Given the description of an element on the screen output the (x, y) to click on. 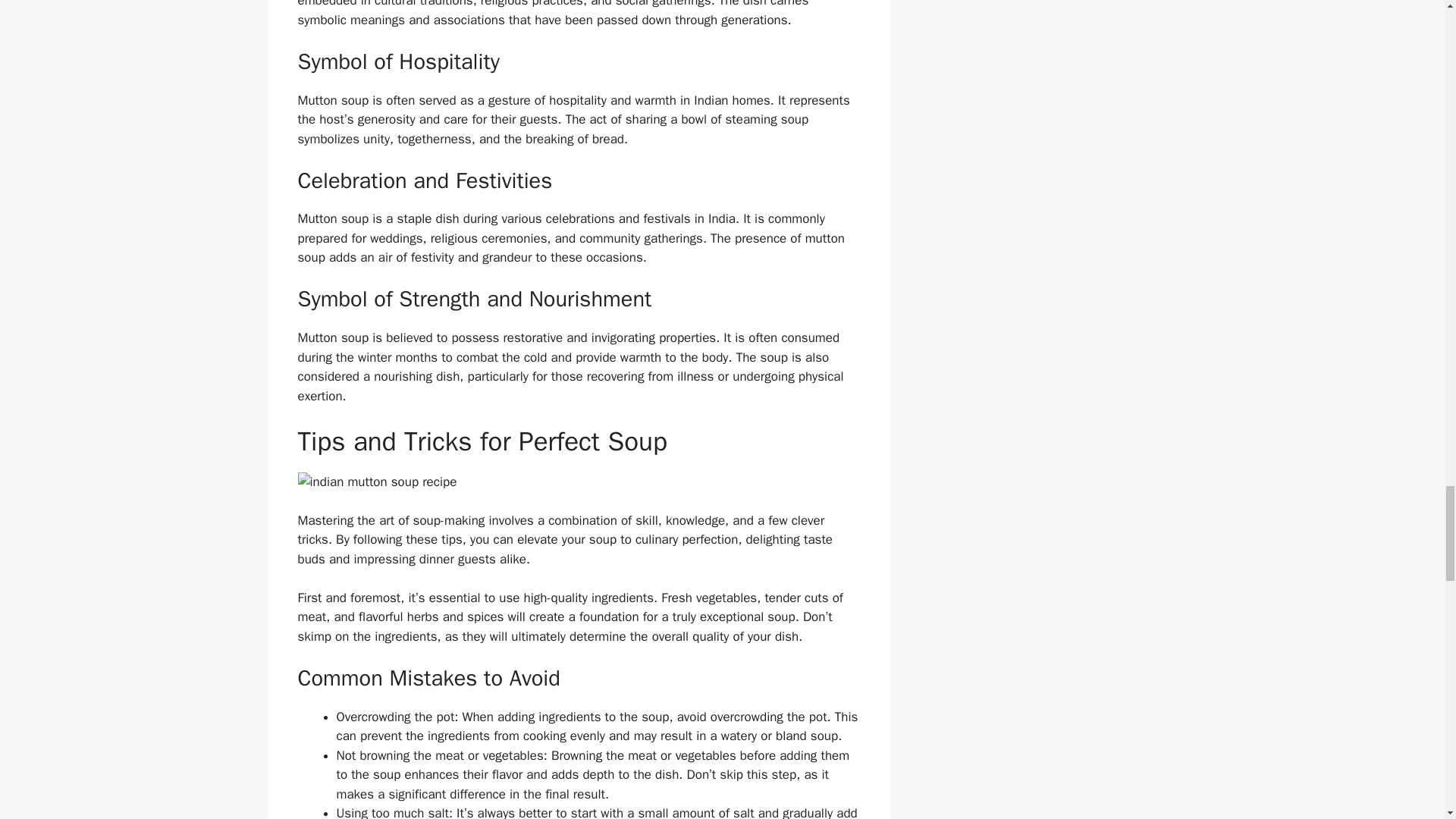
indian mutton soup recipe terbaru (578, 482)
